Given the description of an element on the screen output the (x, y) to click on. 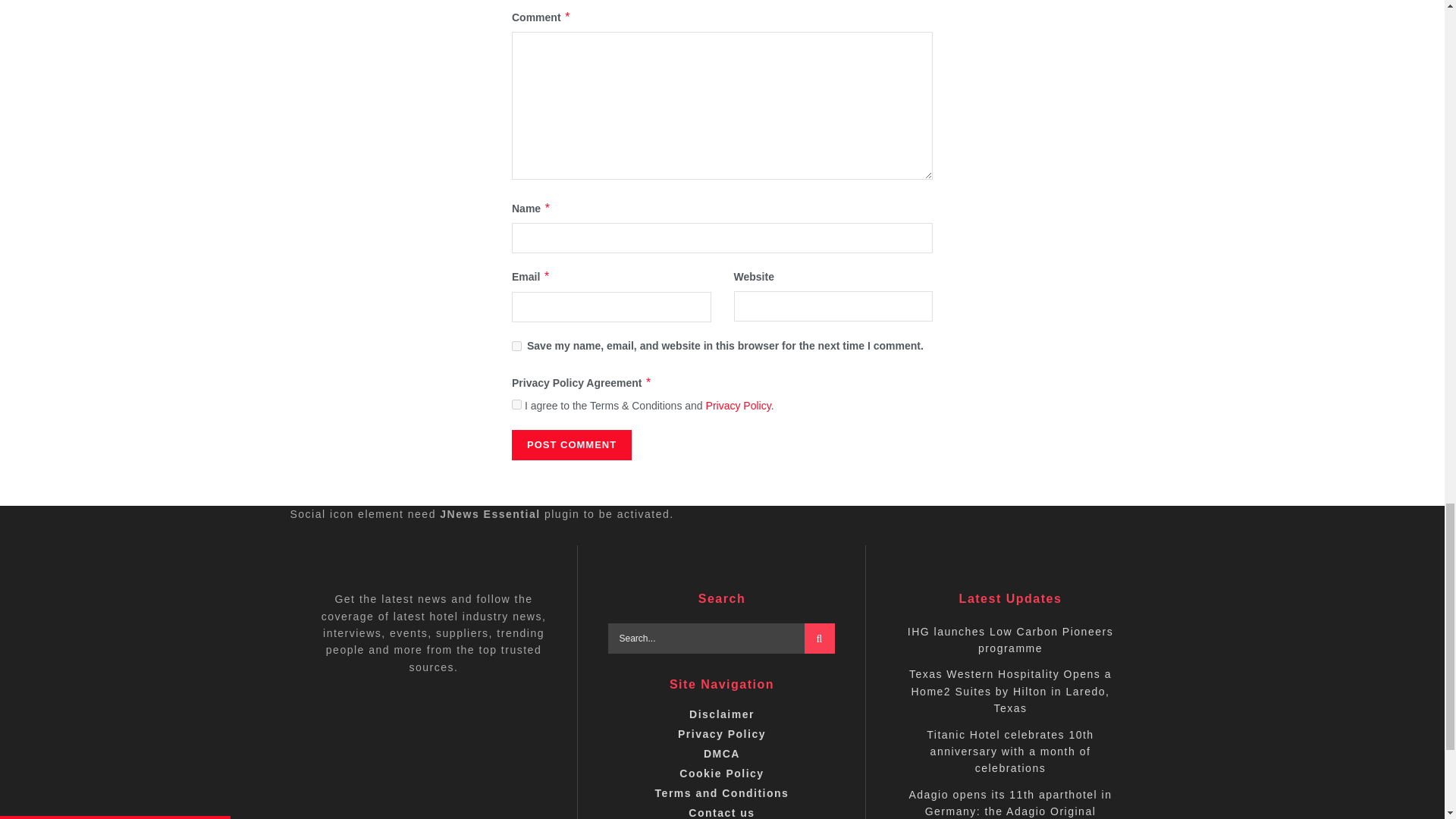
Post Comment (571, 444)
on (516, 404)
yes (516, 346)
